Given the description of an element on the screen output the (x, y) to click on. 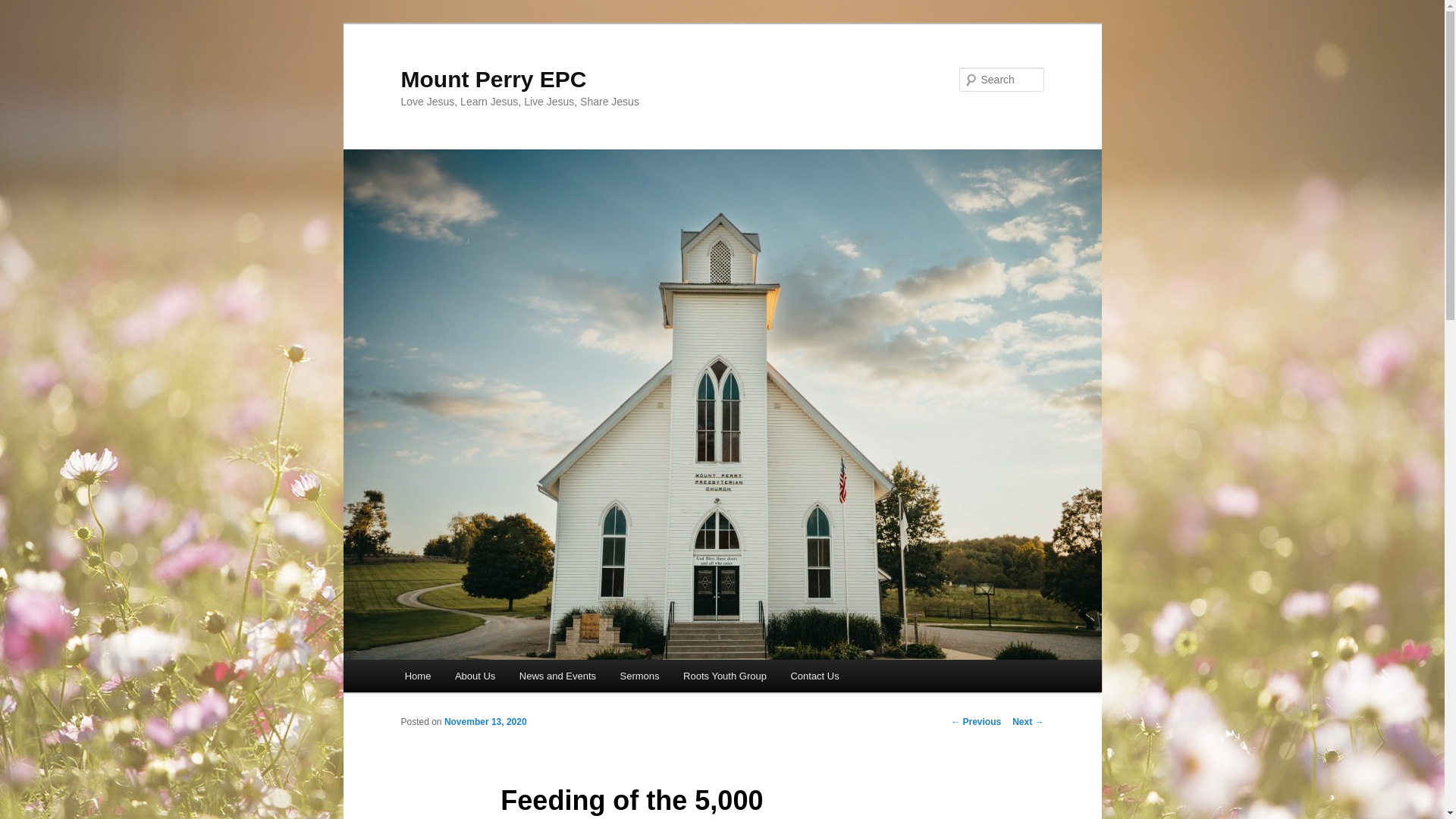
Sermons (639, 676)
About Us (474, 676)
2:48 pm (485, 721)
News and Events (557, 676)
Contact Us (814, 676)
Mount Perry EPC (493, 78)
November 13, 2020 (485, 721)
Home (417, 676)
Roots Youth Group (724, 676)
